Given the description of an element on the screen output the (x, y) to click on. 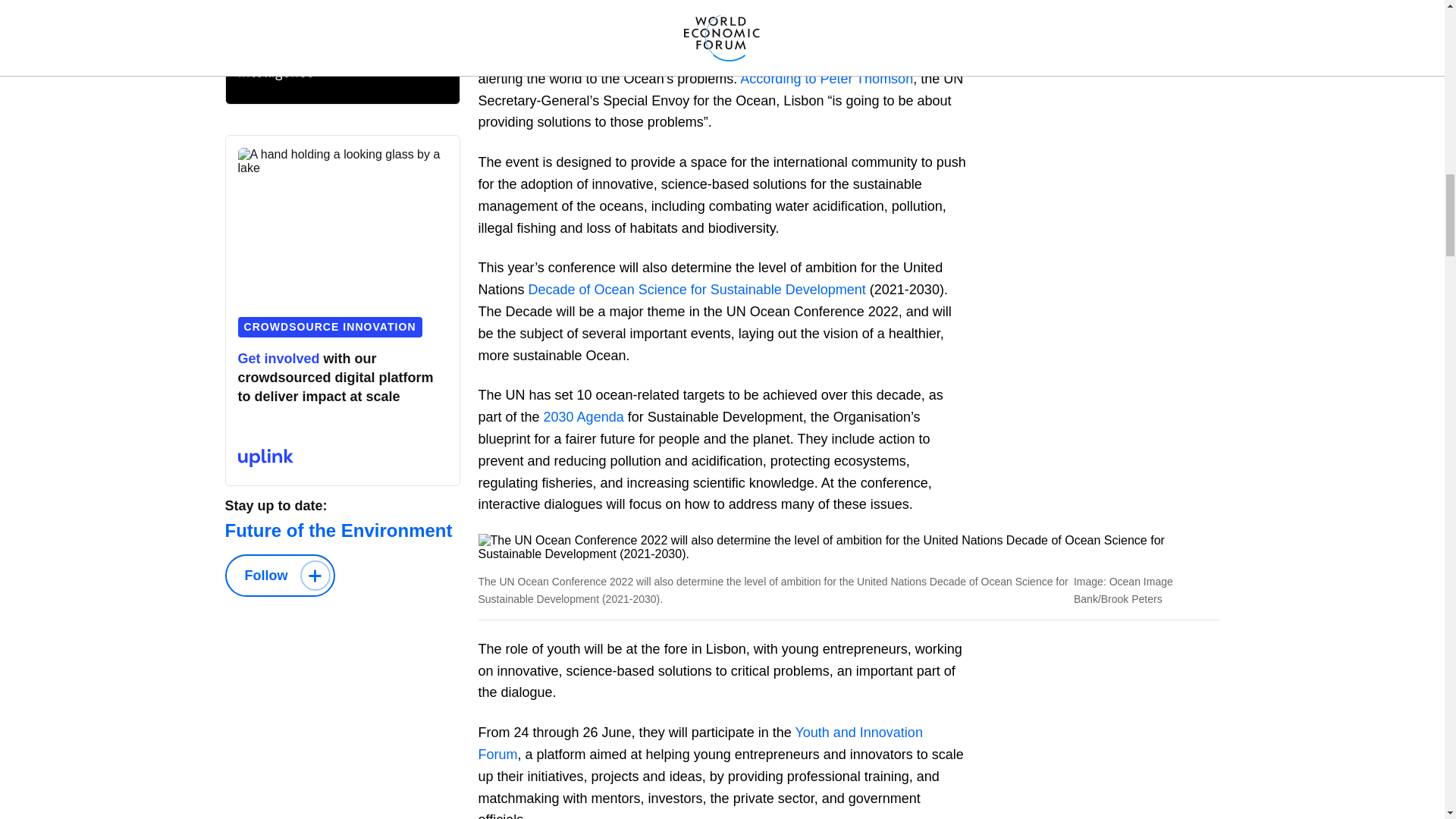
According to Peter Thomson (825, 78)
Decade of Ocean Science for Sustainable Development (697, 289)
2030 Agenda (583, 417)
Follow (279, 575)
Youth and Innovation Forum (699, 743)
